Given the description of an element on the screen output the (x, y) to click on. 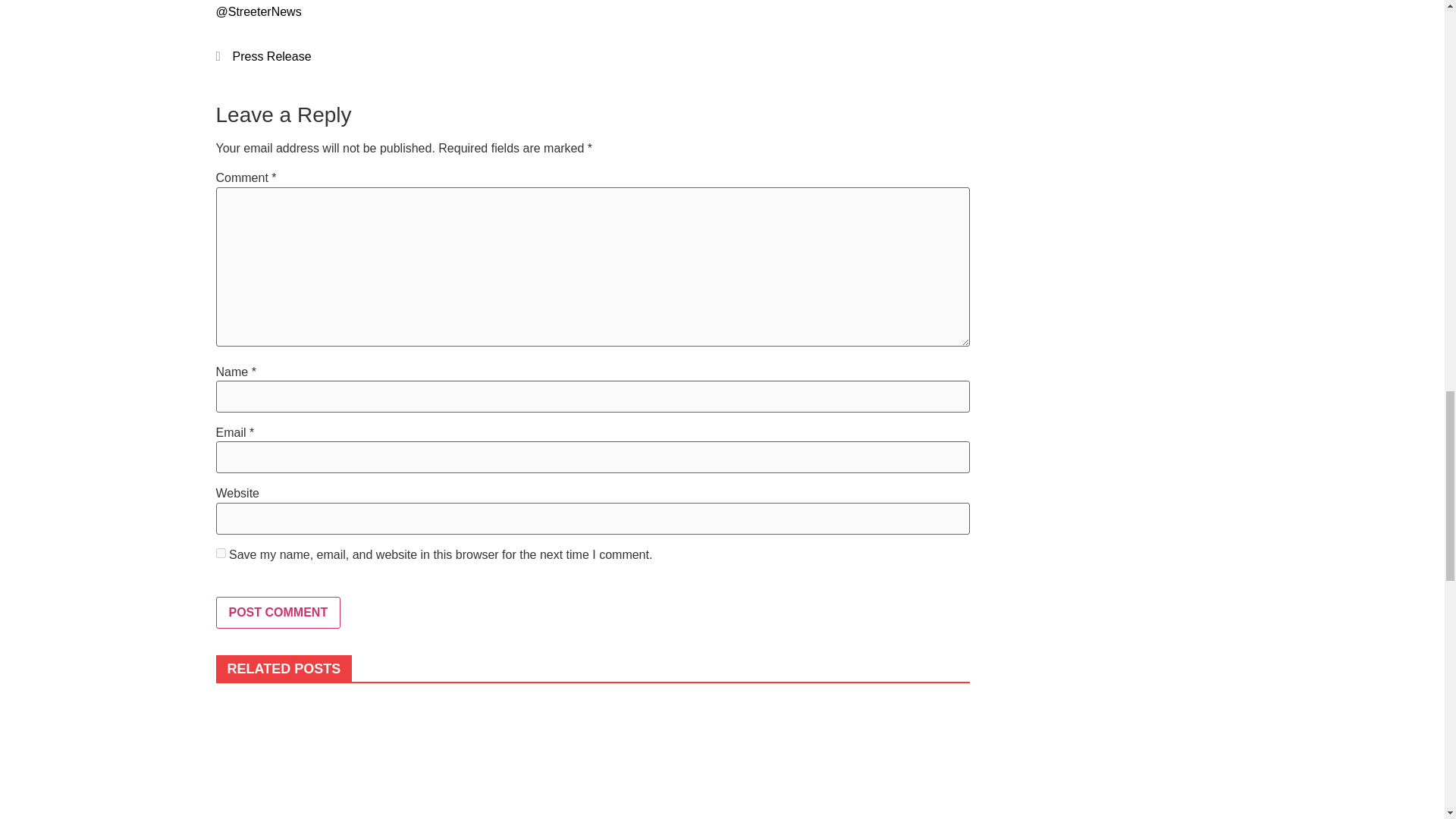
Post Comment (277, 612)
Press Release (271, 56)
yes (220, 552)
Post Comment (277, 612)
